Given the description of an element on the screen output the (x, y) to click on. 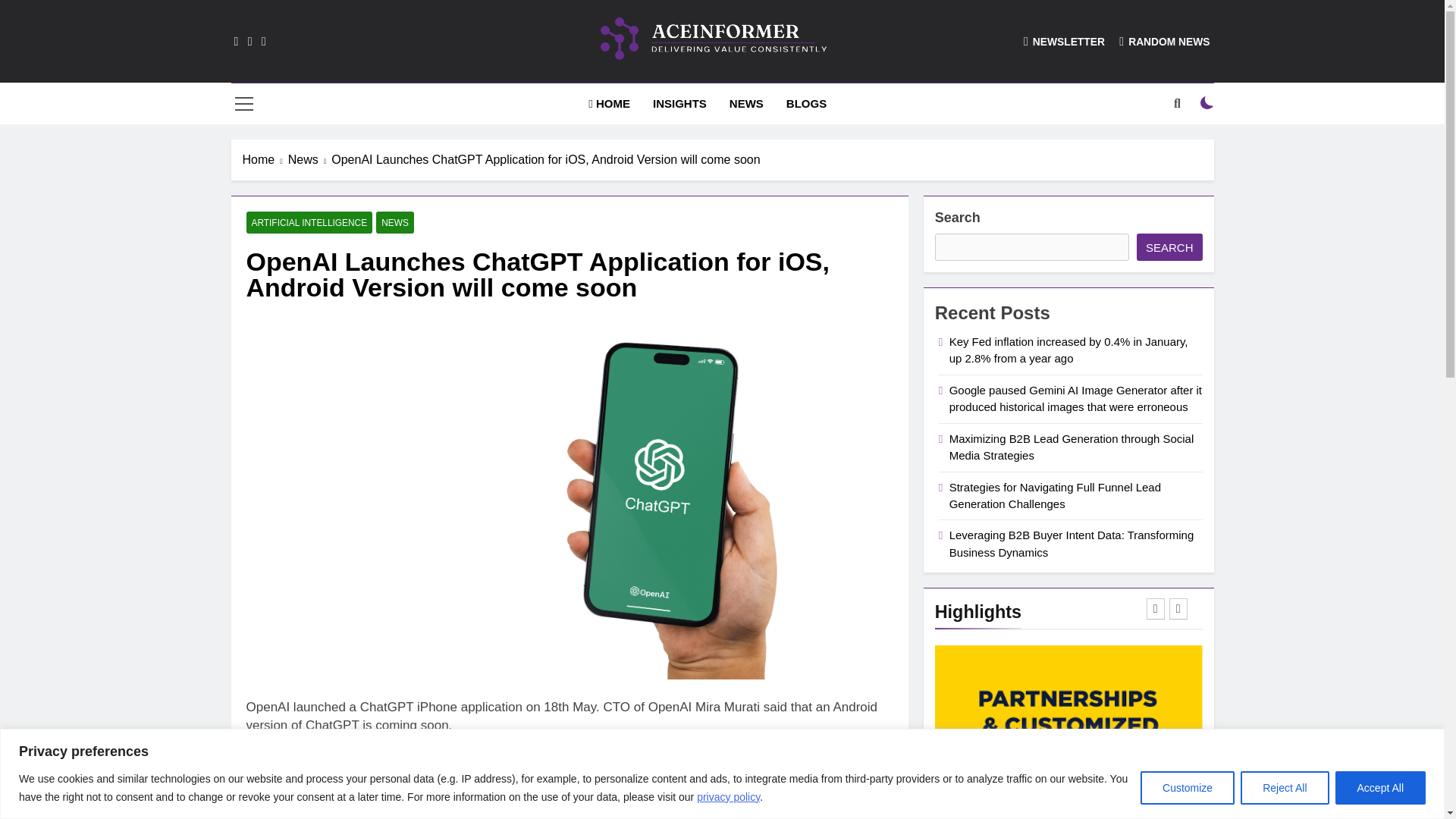
privacy policy (728, 796)
ACEInformer (583, 94)
Customize (1187, 786)
NEWSLETTER (1064, 41)
Accept All (1380, 786)
HOME (609, 103)
on (1206, 102)
RANDOM NEWS (1164, 41)
Reject All (1283, 786)
